Given the description of an element on the screen output the (x, y) to click on. 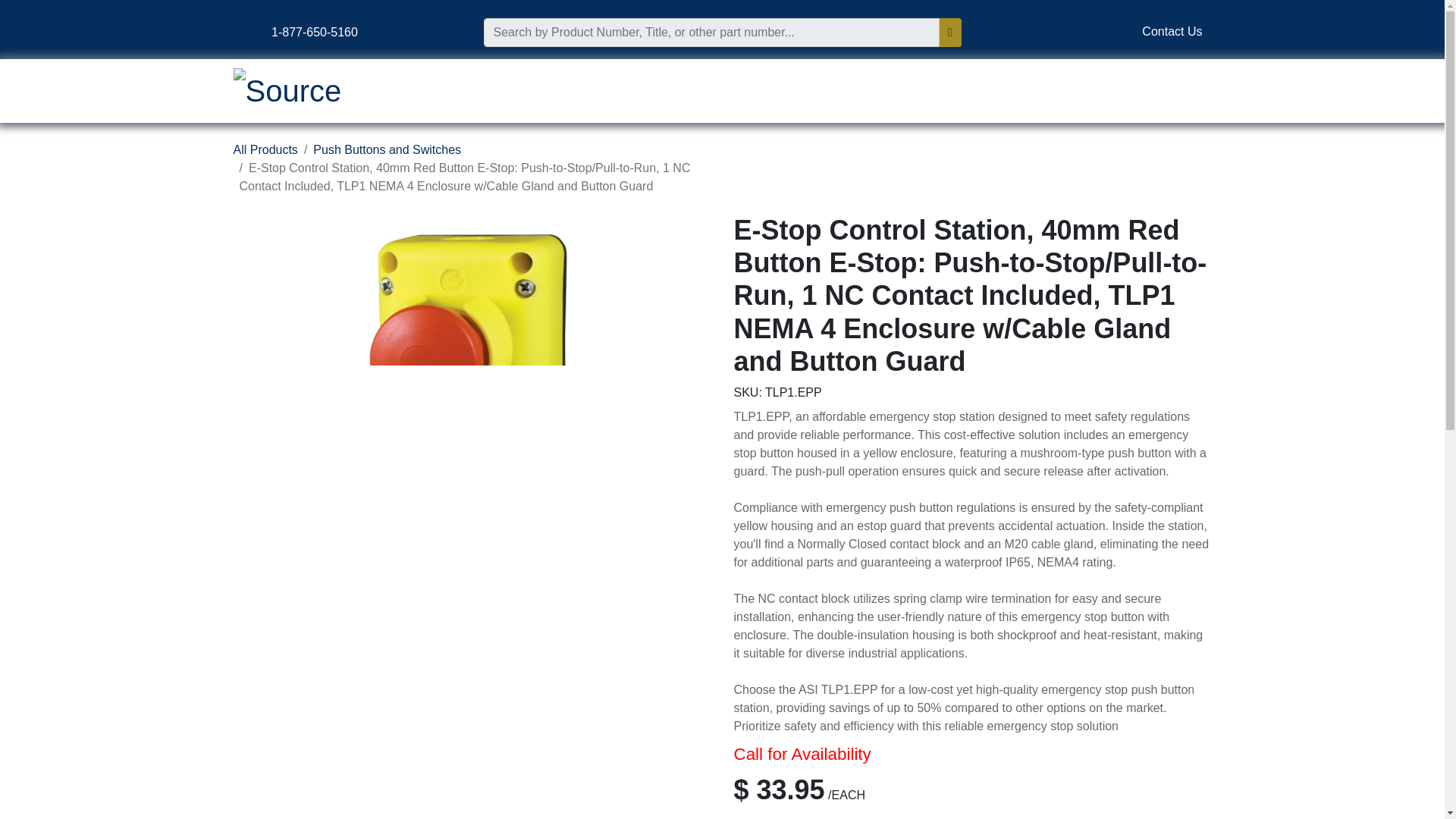
All Products (265, 149)
Push Buttons and Switches (387, 149)
1-877-650-5160 (315, 32)
SourceASI (287, 90)
Contact Us  (1171, 31)
